Given the description of an element on the screen output the (x, y) to click on. 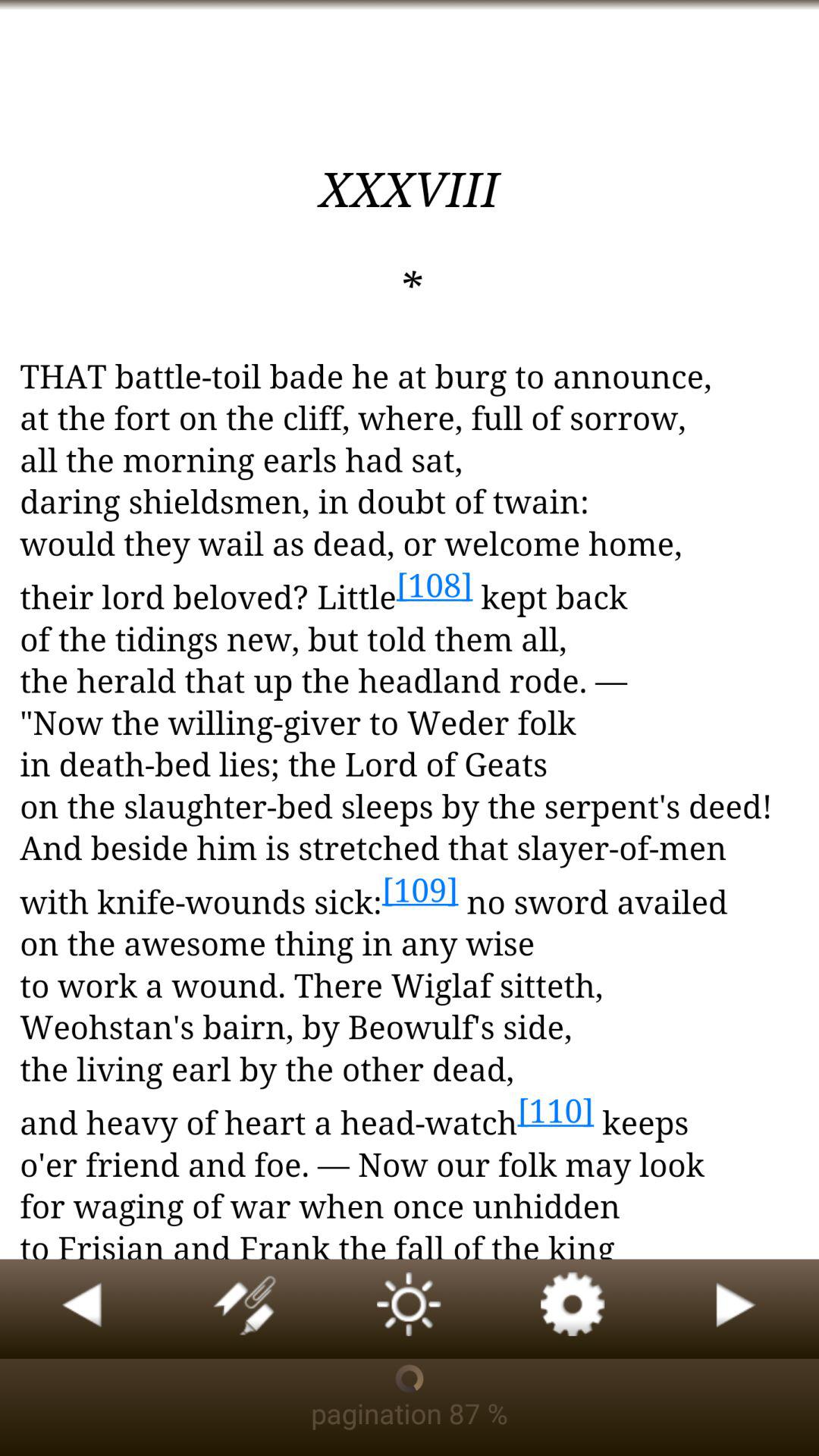
go back (81, 1308)
